Given the description of an element on the screen output the (x, y) to click on. 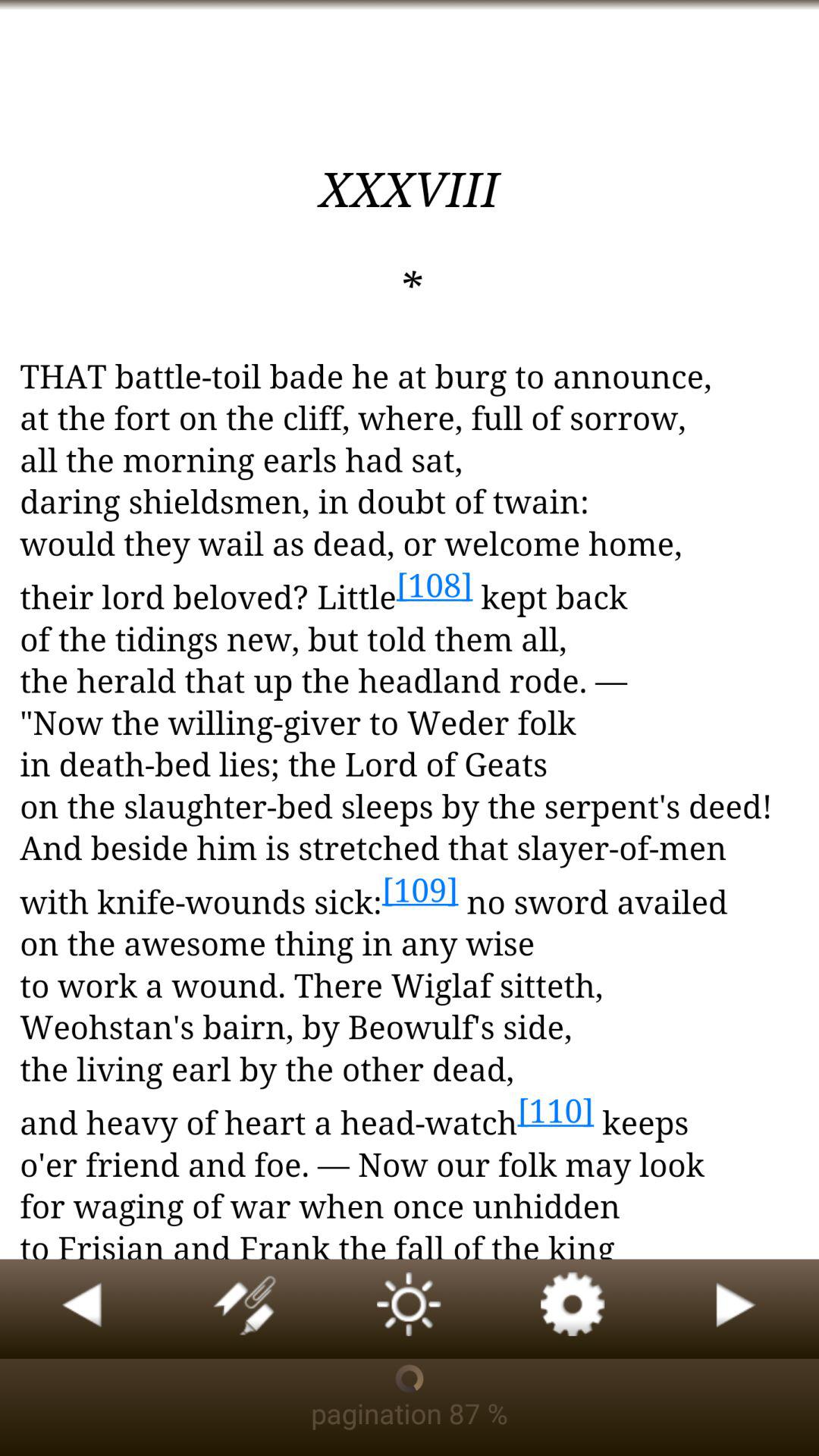
go back (81, 1308)
